Given the description of an element on the screen output the (x, y) to click on. 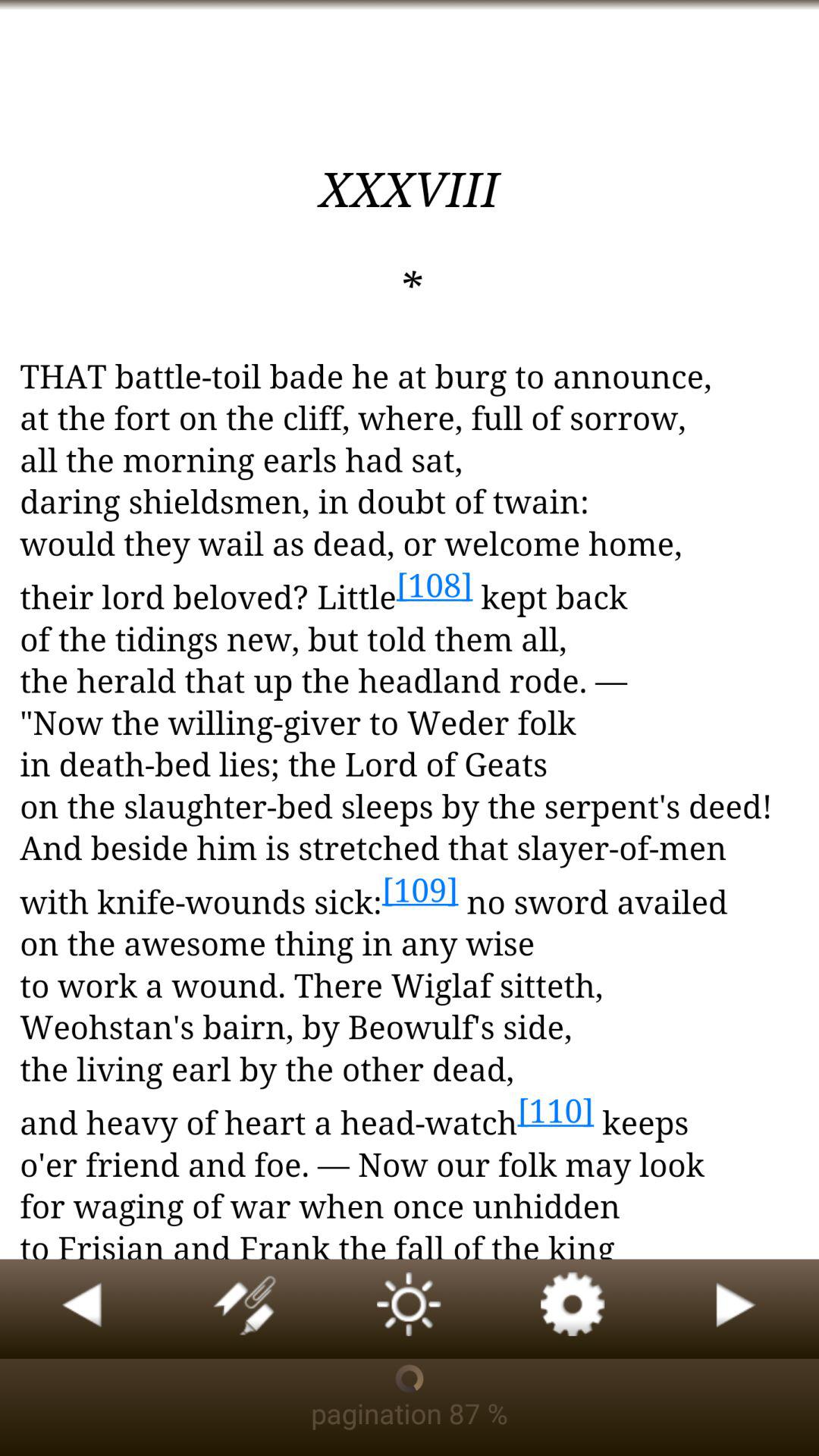
go back (81, 1308)
